Given the description of an element on the screen output the (x, y) to click on. 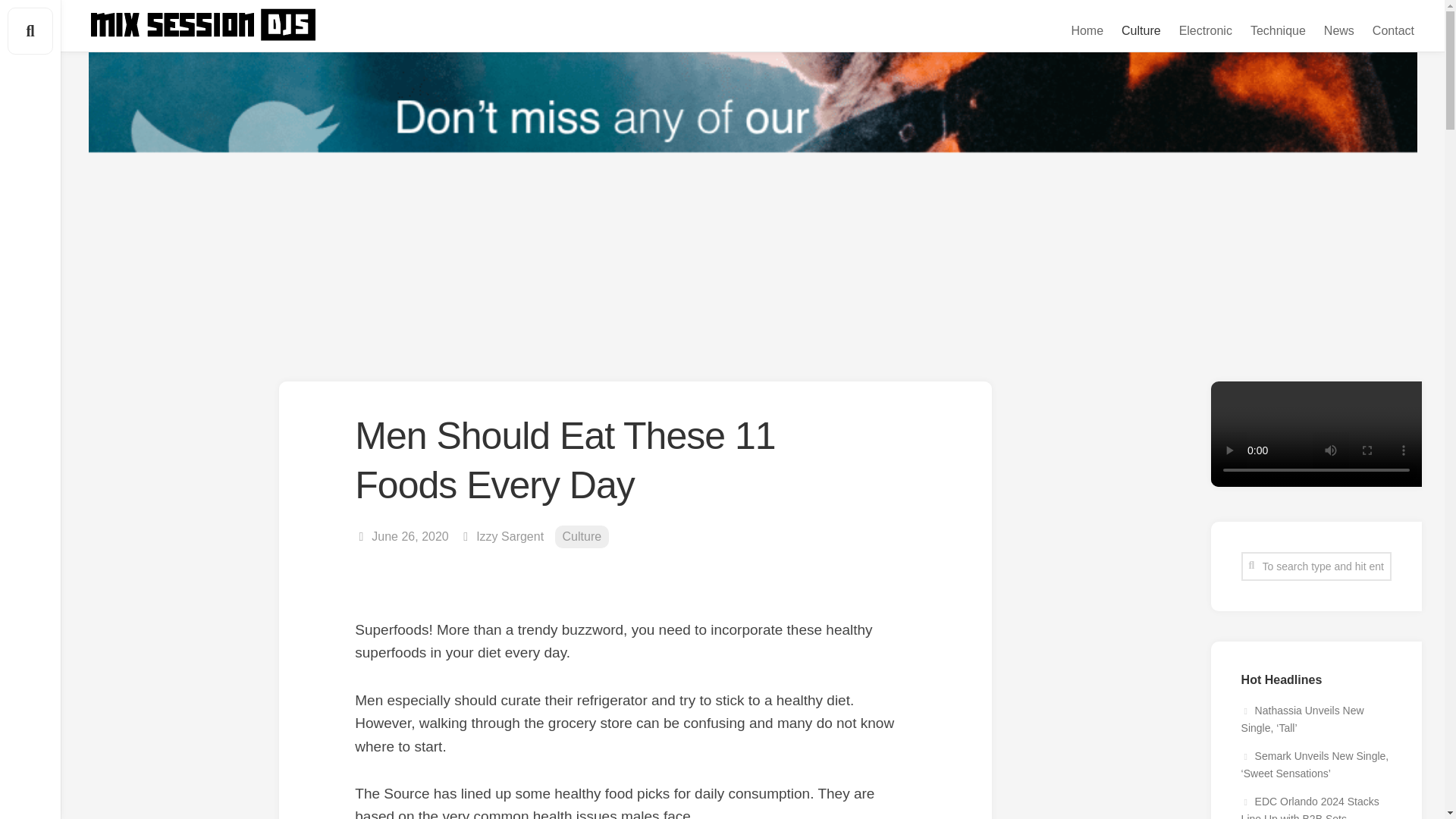
Culture (1140, 30)
To search type and hit enter (1316, 566)
Electronic (1205, 30)
Technique (1278, 30)
Culture (582, 536)
Posts by Izzy Sargent (509, 535)
Izzy Sargent (509, 535)
To search type and hit enter (1316, 566)
Your browser does not support the video tag. (1316, 481)
Contact (1393, 30)
